Given the description of an element on the screen output the (x, y) to click on. 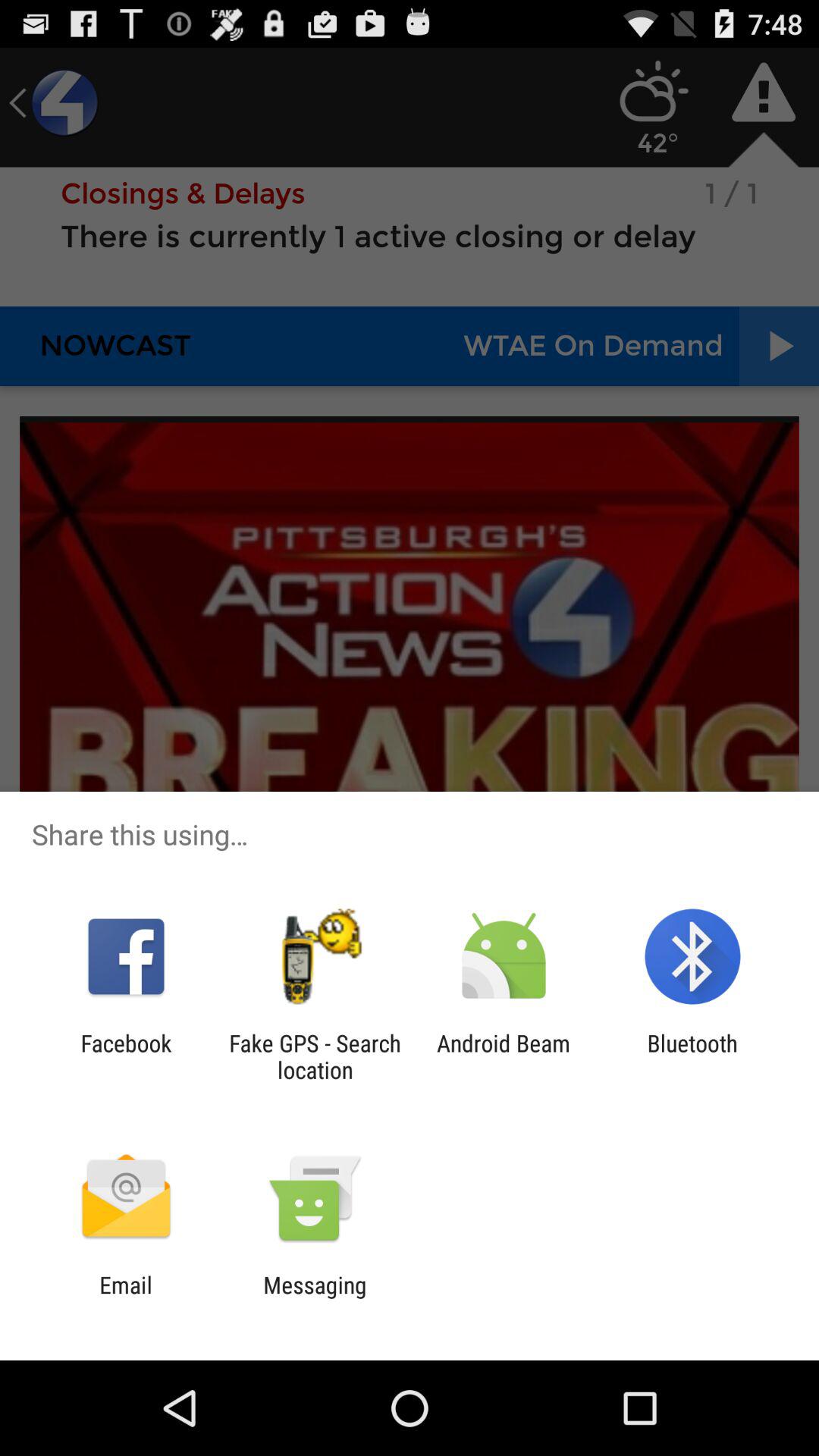
choose app next to messaging item (125, 1298)
